Given the description of an element on the screen output the (x, y) to click on. 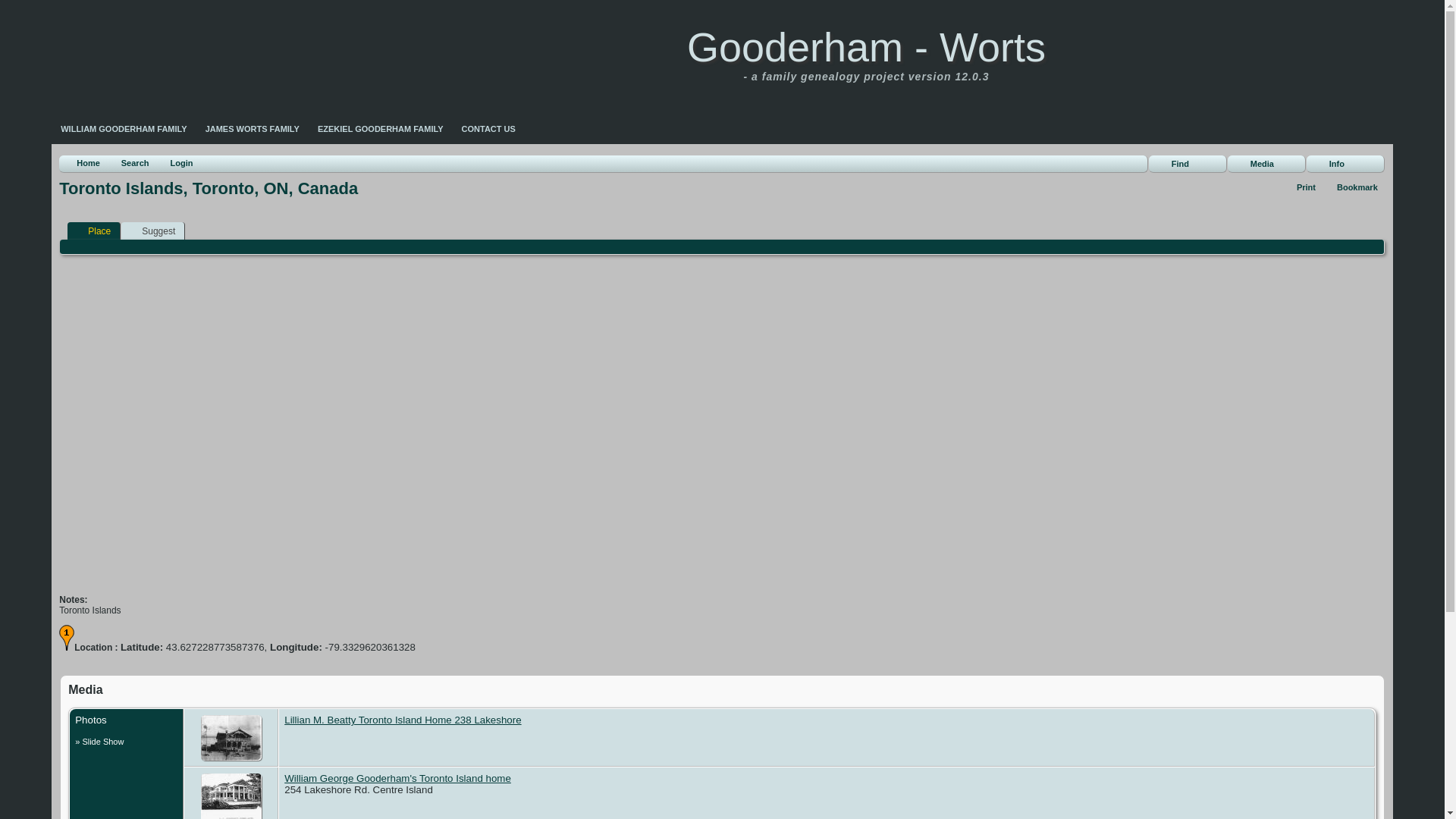
Home (81, 163)
Search (128, 163)
Find (1187, 163)
EZEKIEL GOODERHAM FAMILY (380, 128)
Print (1299, 187)
Bookmark (1350, 187)
WILLIAM GOODERHAM FAMILY (122, 128)
Search (128, 163)
Gooderham - Worts (866, 46)
Login (173, 163)
Login (173, 163)
Media (1266, 163)
Home (81, 163)
Info (1345, 163)
JAMES WORTS FAMILY (252, 128)
